Given the description of an element on the screen output the (x, y) to click on. 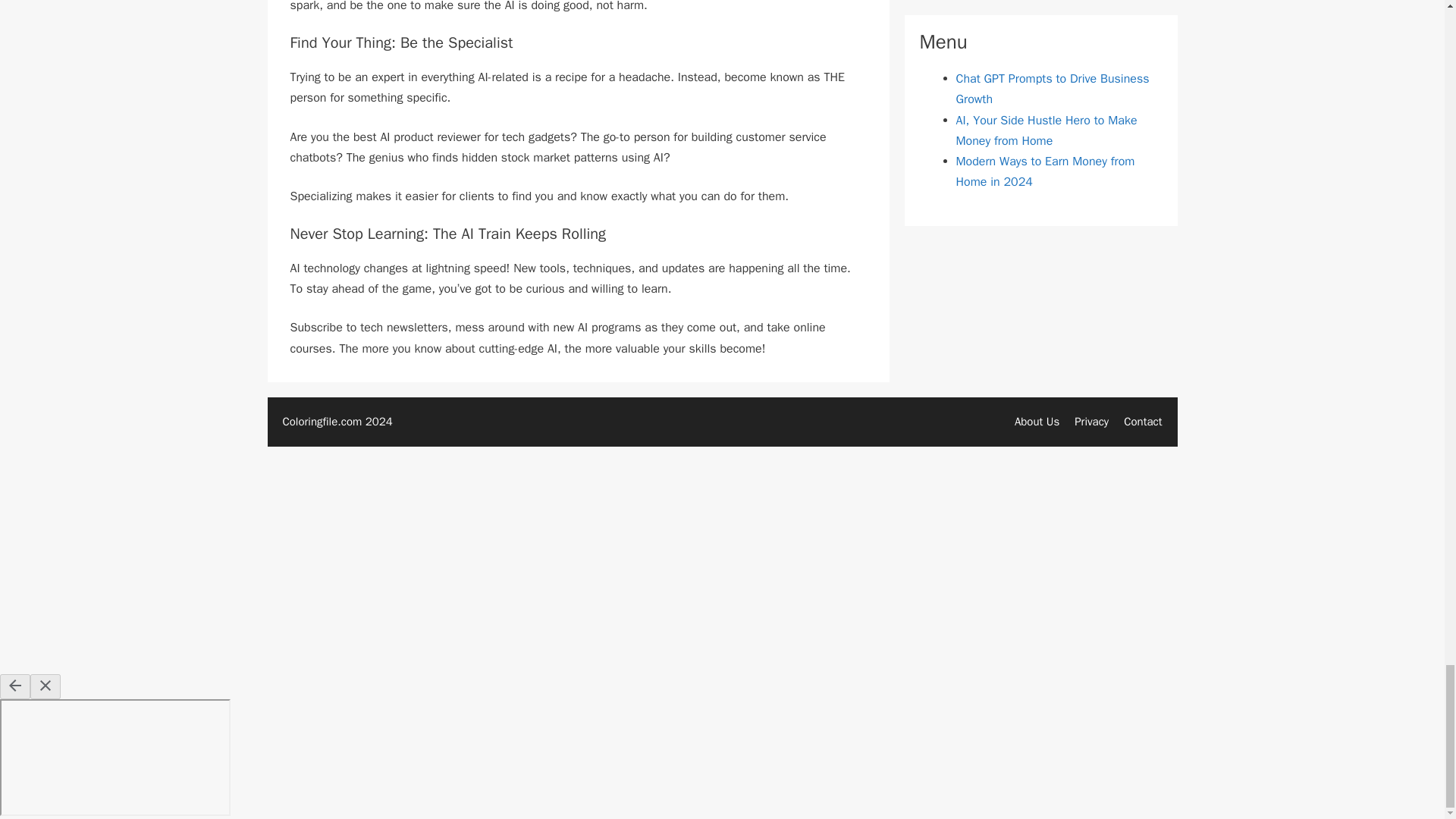
Privacy (1091, 421)
Contact (1142, 421)
About Us (1036, 421)
